Given the description of an element on the screen output the (x, y) to click on. 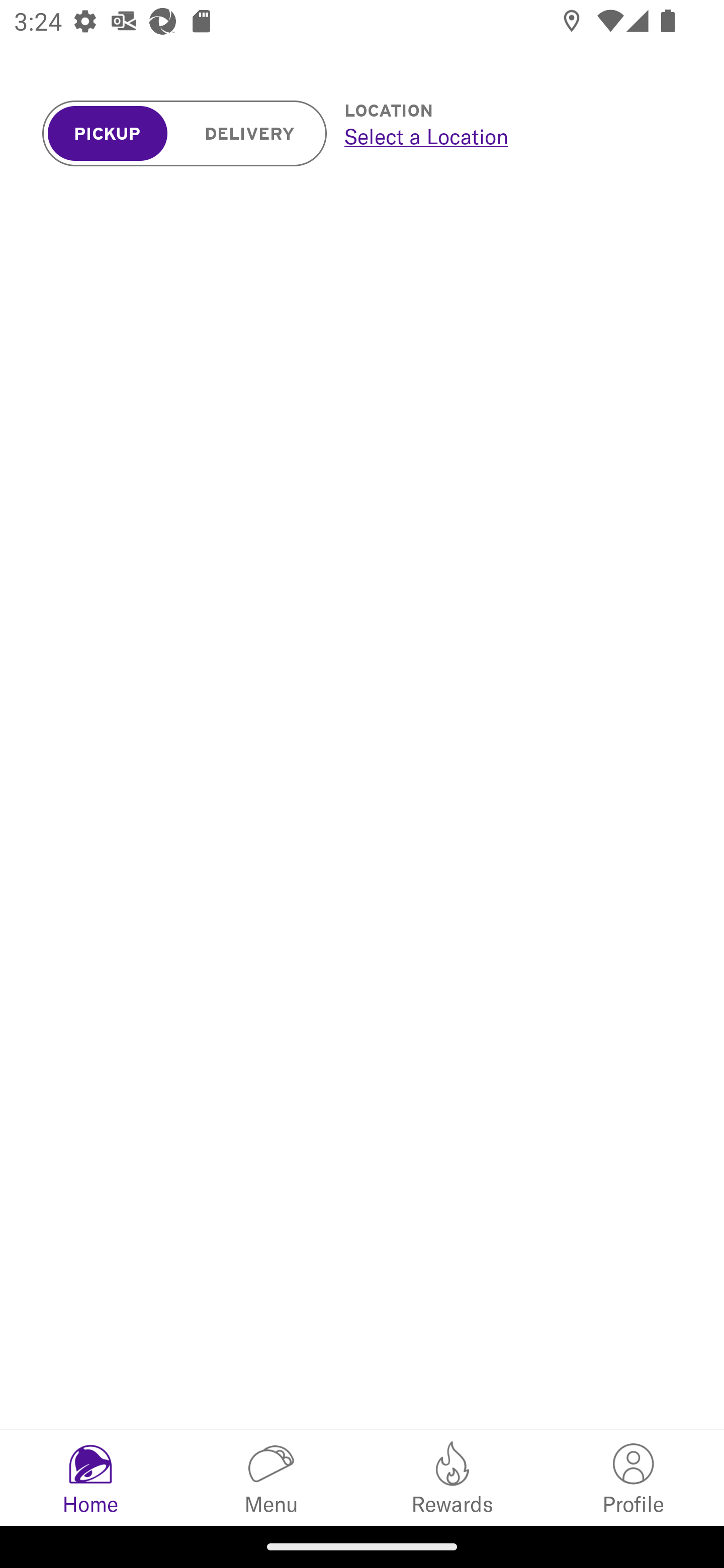
PICKUP (107, 133)
DELIVERY (249, 133)
Select a Location (511, 136)
Home (90, 1476)
Menu (271, 1476)
Rewards (452, 1476)
My Info Profile (633, 1476)
